Given the description of an element on the screen output the (x, y) to click on. 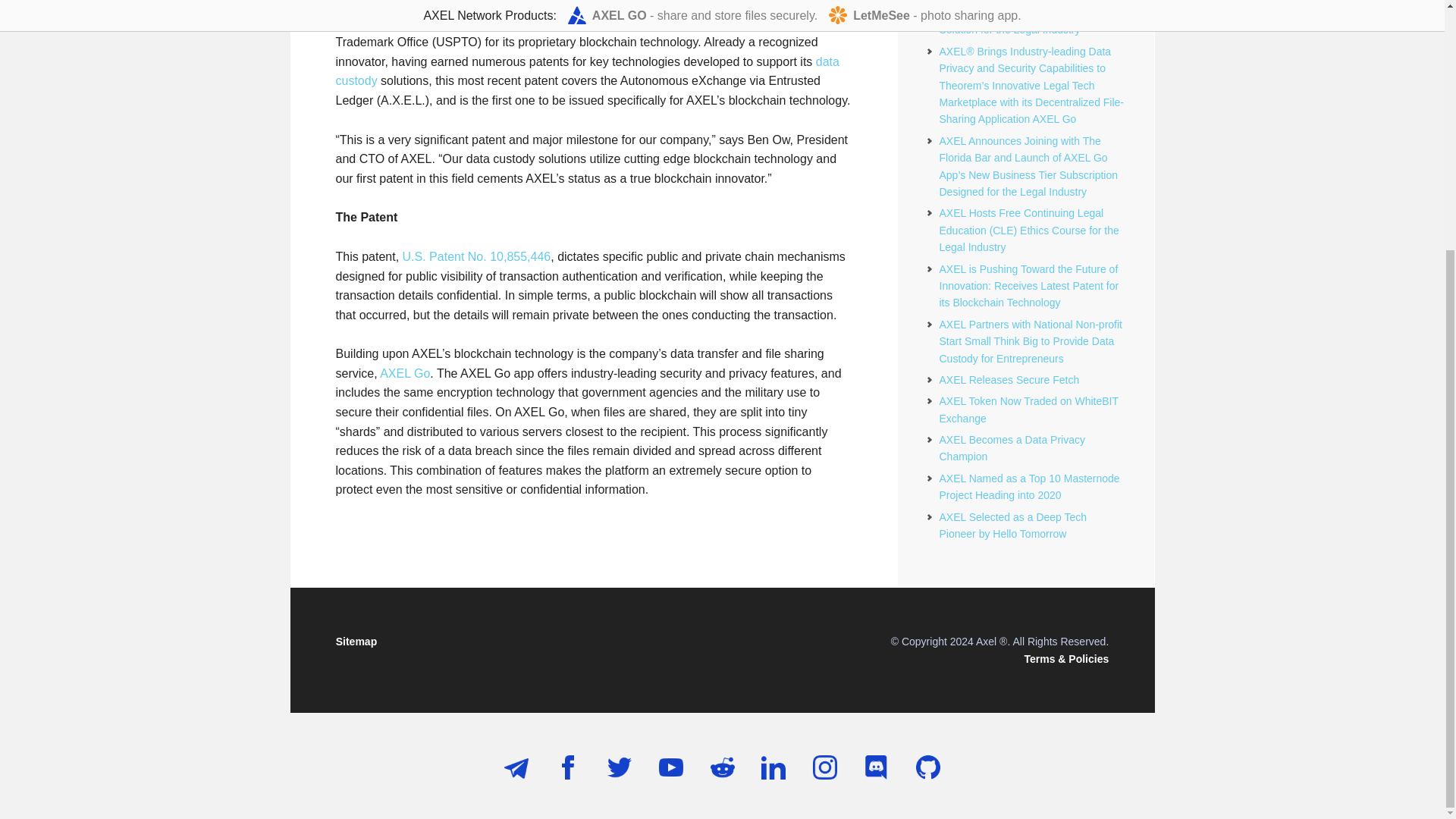
U.S. Patent No. 10,855,446 (477, 256)
AXEL (350, 4)
data custody (586, 71)
AXEL Go (404, 373)
AXEL Releases Secure Fetch (1008, 379)
AXEL Network (491, 4)
AXEL Becomes a Data Privacy Champion (1011, 448)
